Given the description of an element on the screen output the (x, y) to click on. 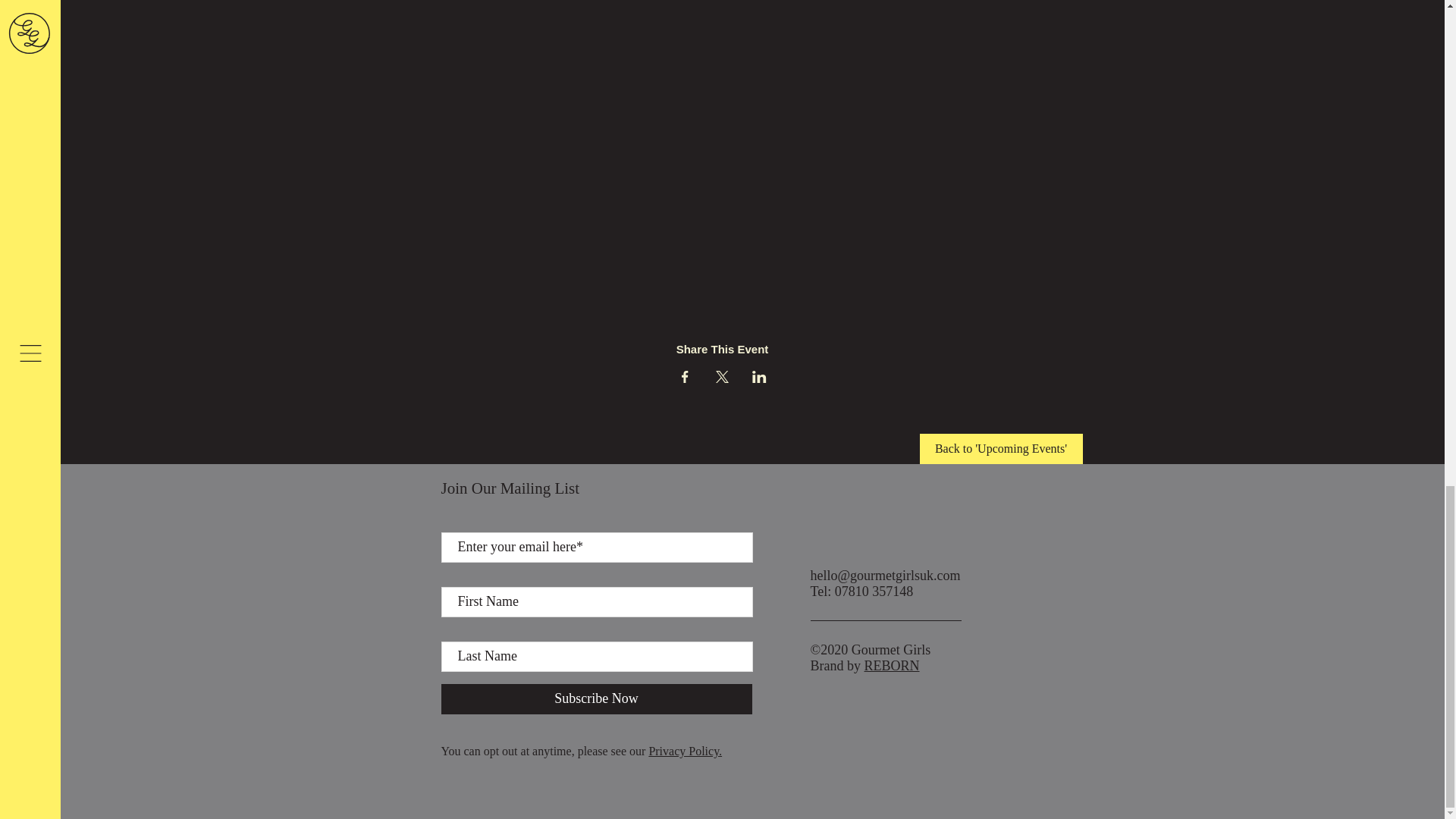
REBORN (892, 665)
Subscribe Now (596, 698)
Privacy Policy. (684, 750)
Back to 'Upcoming Events' (999, 449)
